Given the description of an element on the screen output the (x, y) to click on. 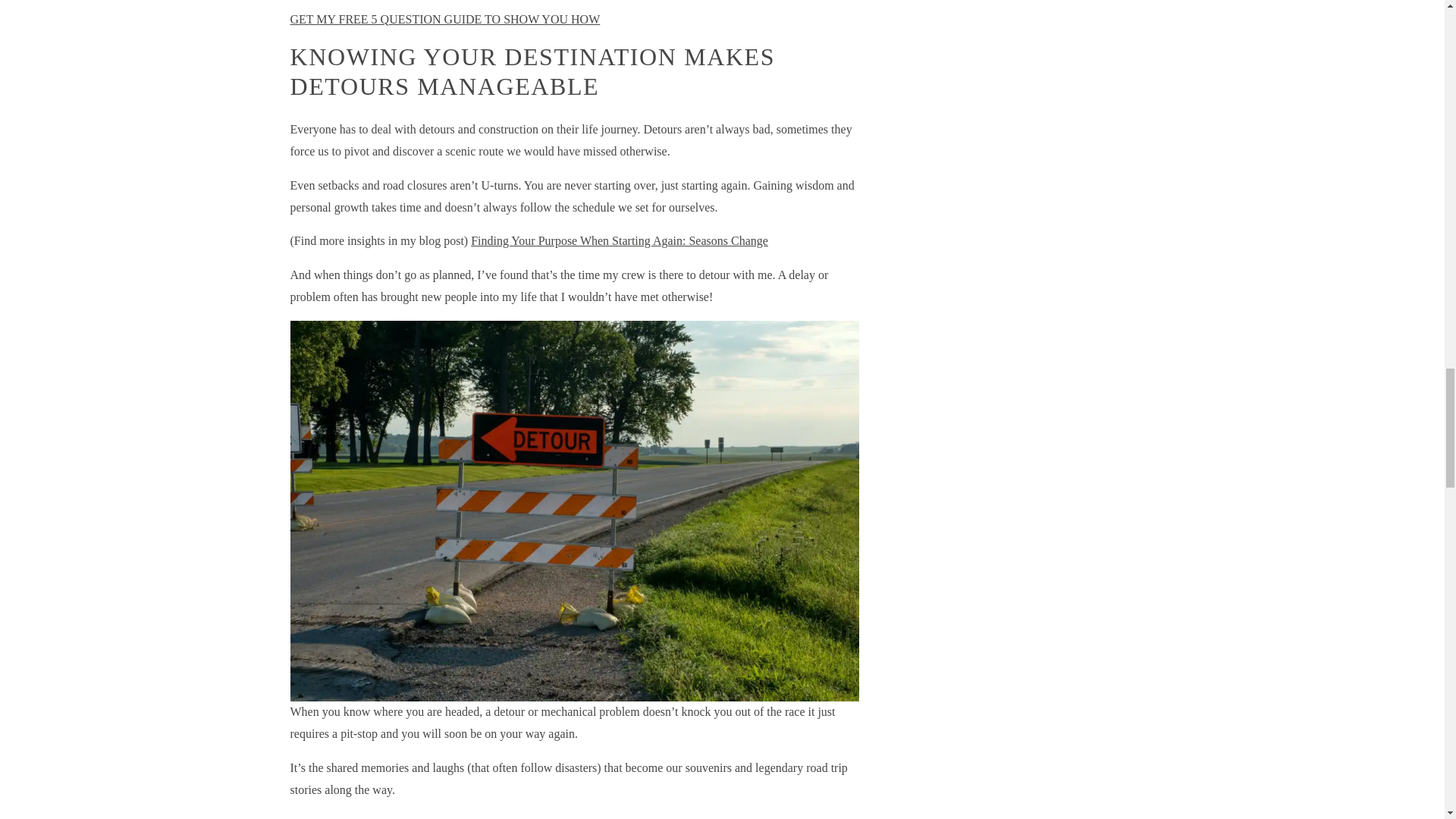
GET MY FREE 5 QUESTION GUIDE TO SHOW YOU HOW (444, 19)
Finding Your Purpose When Starting Again: Seasons Change (619, 240)
